Given the description of an element on the screen output the (x, y) to click on. 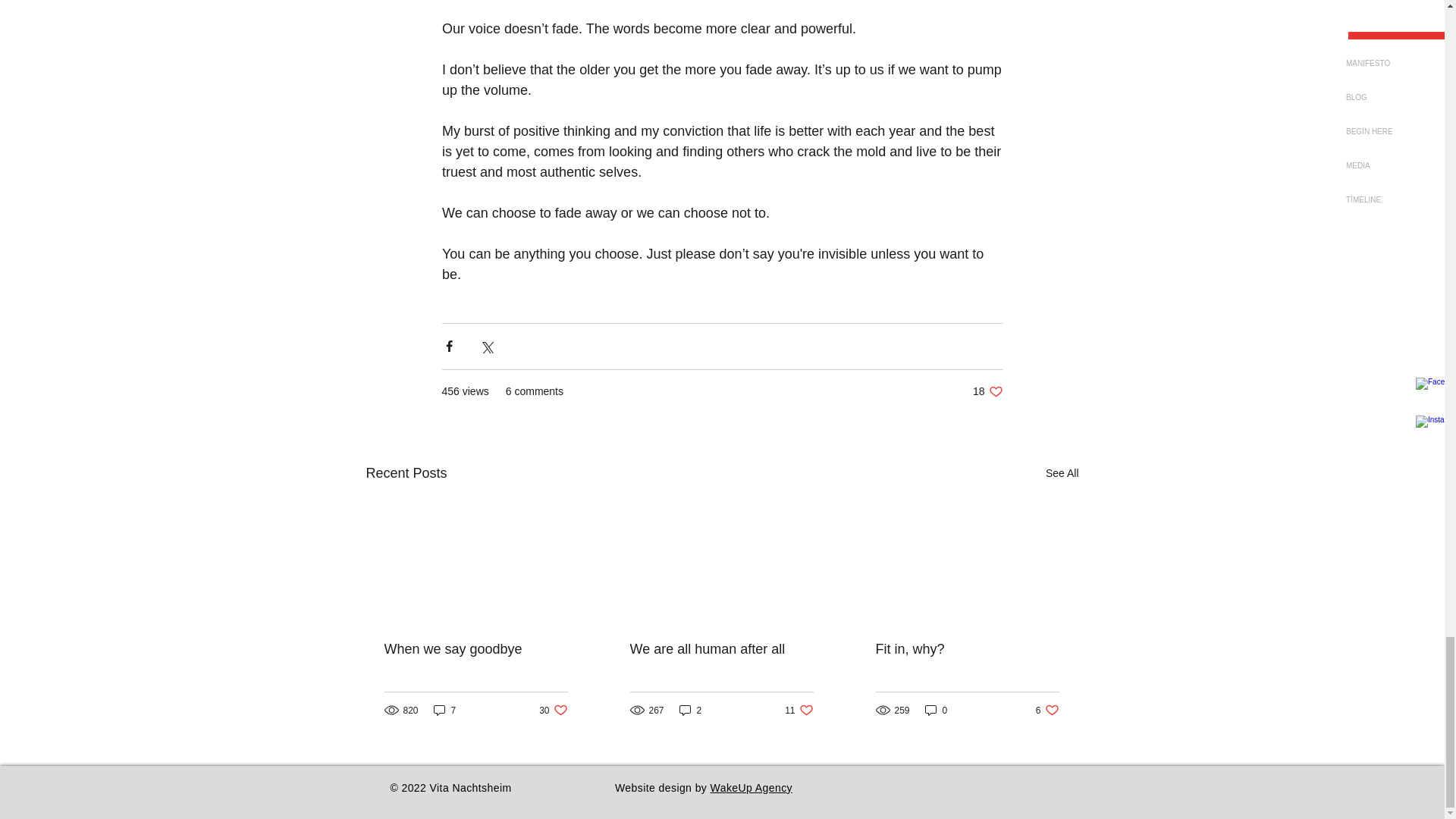
WakeUp Agency (751, 787)
When we say goodbye (475, 649)
7 (987, 391)
0 (1047, 709)
2 (445, 709)
See All (936, 709)
We are all human after all (798, 709)
Fit in, why? (690, 709)
